Given the description of an element on the screen output the (x, y) to click on. 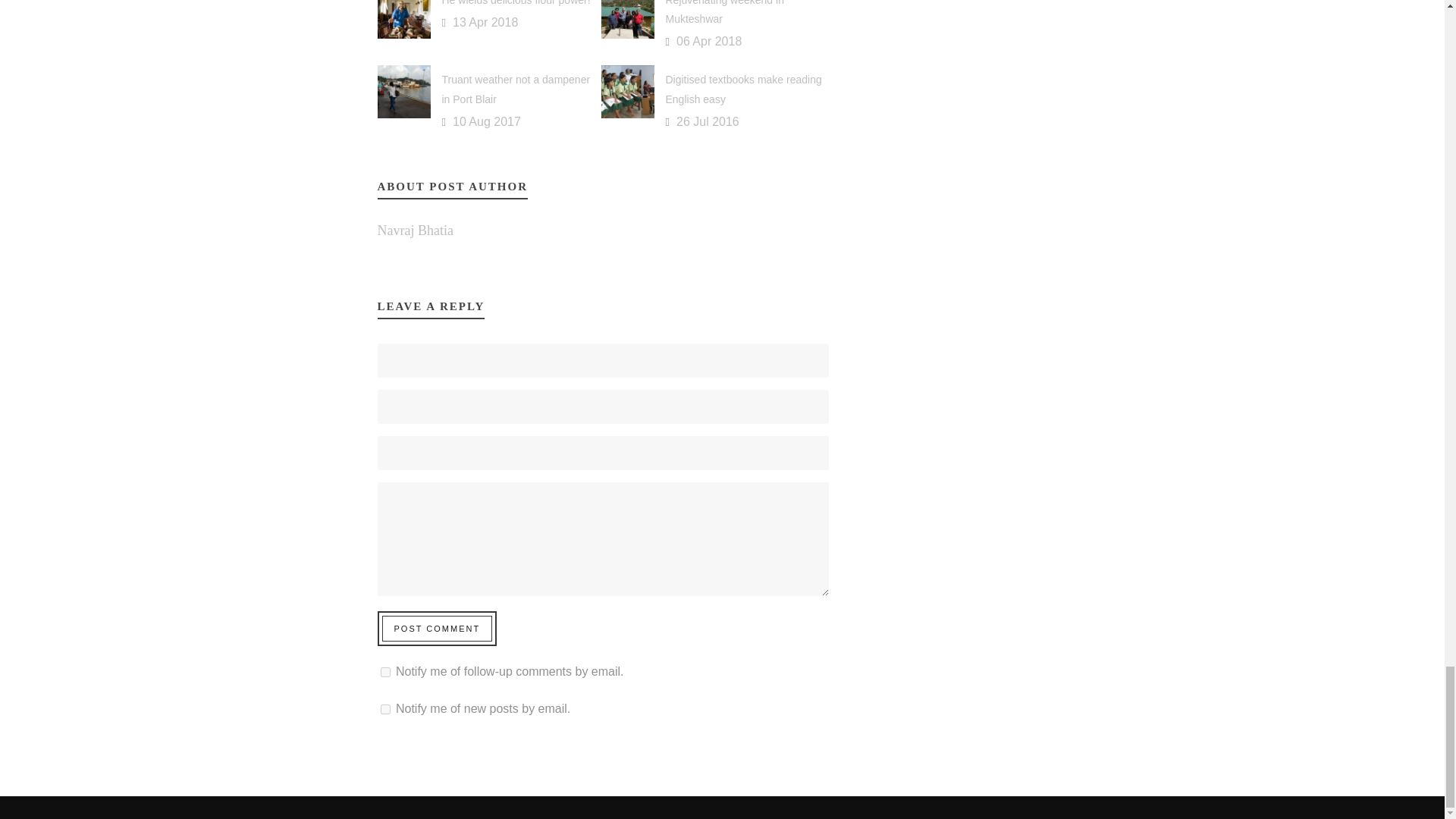
subscribe (385, 672)
Post Comment (437, 628)
Posts by Navraj Bhatia (414, 230)
subscribe (385, 709)
